Given the description of an element on the screen output the (x, y) to click on. 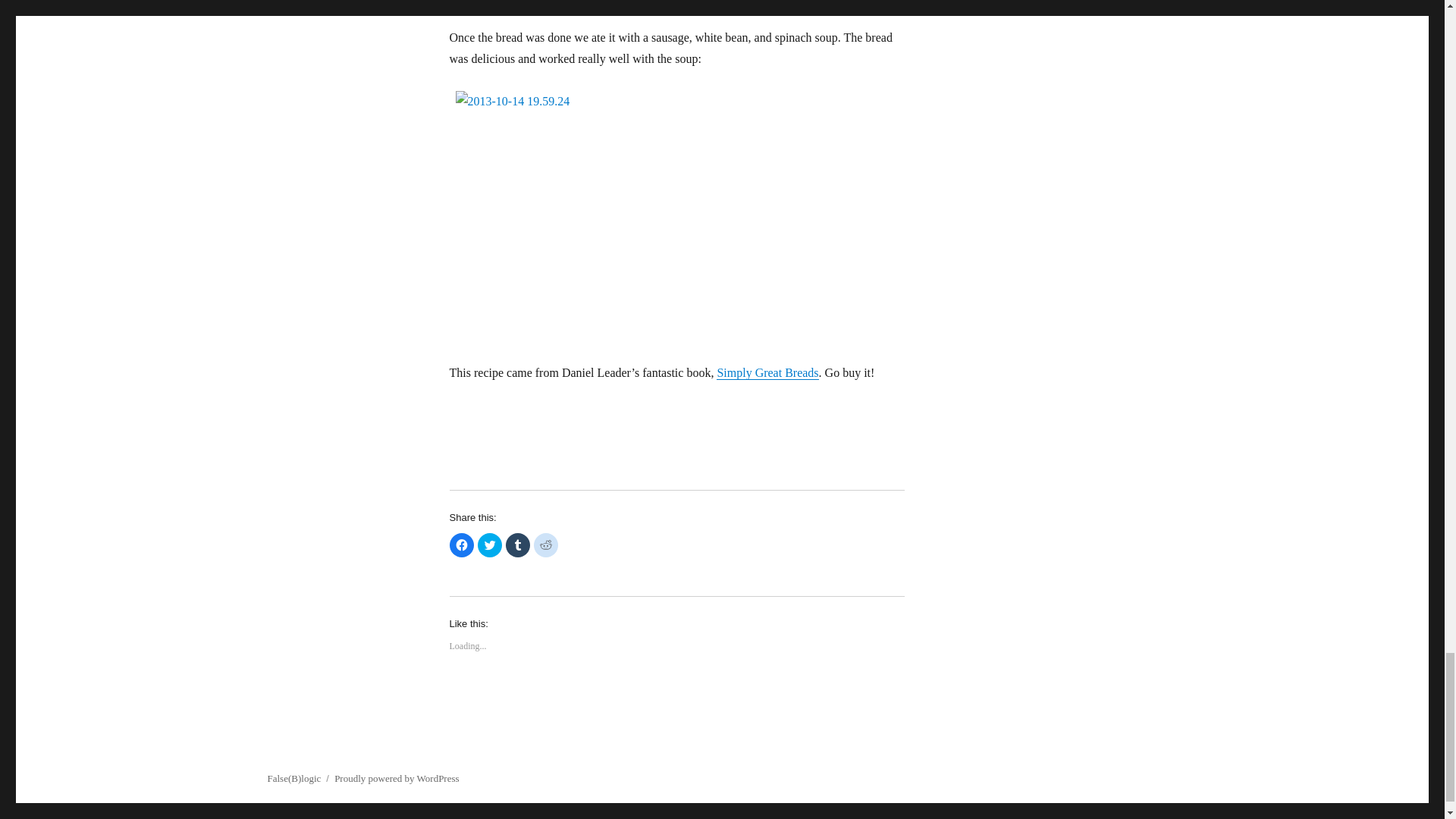
Simply Great Breads (767, 372)
Proudly powered by WordPress (396, 778)
Click to share on Twitter (489, 545)
Click to share on Tumblr (517, 545)
Click to share on Reddit (545, 545)
Click to share on Facebook (460, 545)
